Given the description of an element on the screen output the (x, y) to click on. 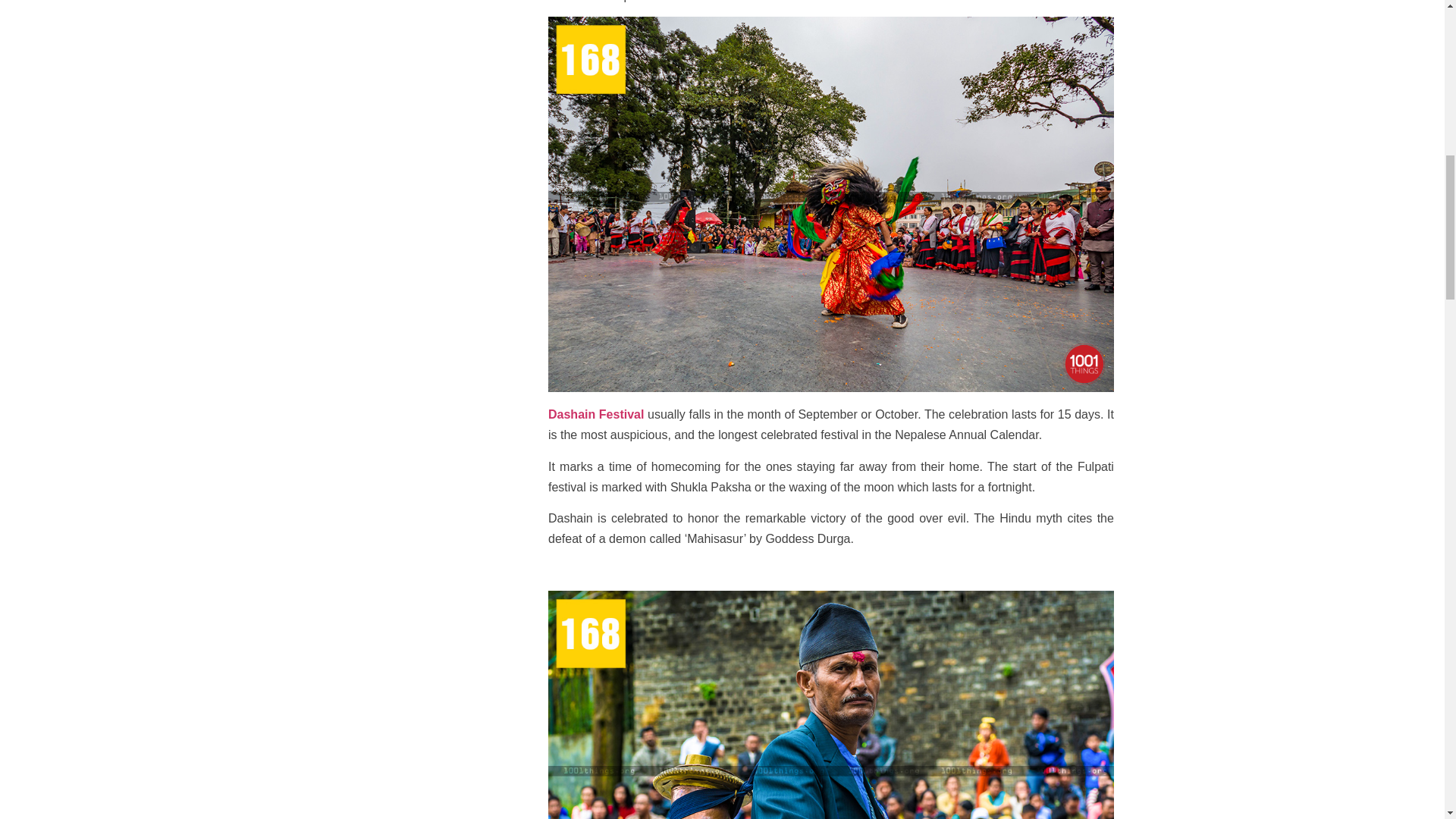
Dashain Festival (595, 417)
